Given the description of an element on the screen output the (x, y) to click on. 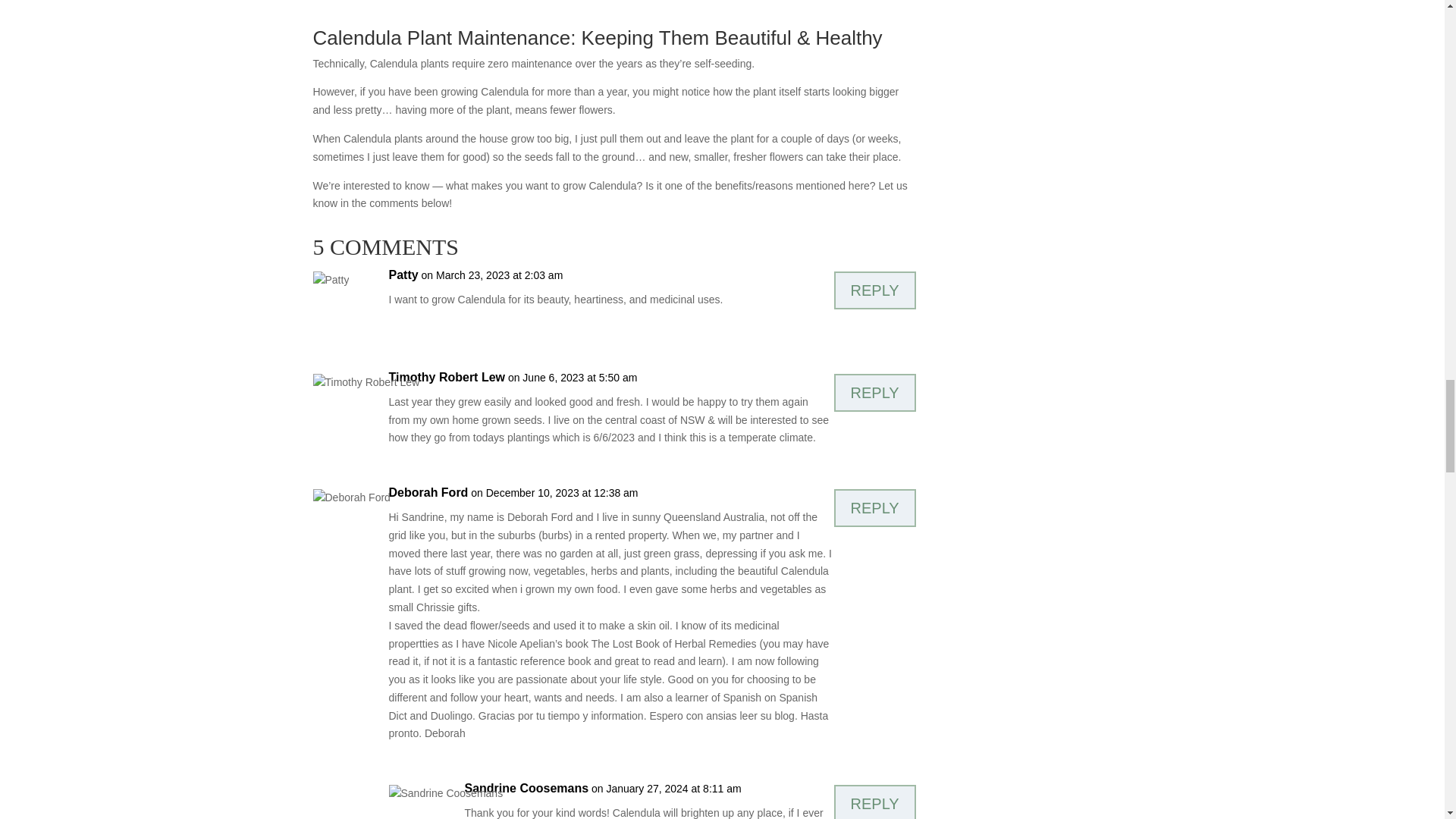
REPLY (874, 392)
REPLY (874, 507)
REPLY (874, 290)
REPLY (874, 801)
